Given the description of an element on the screen output the (x, y) to click on. 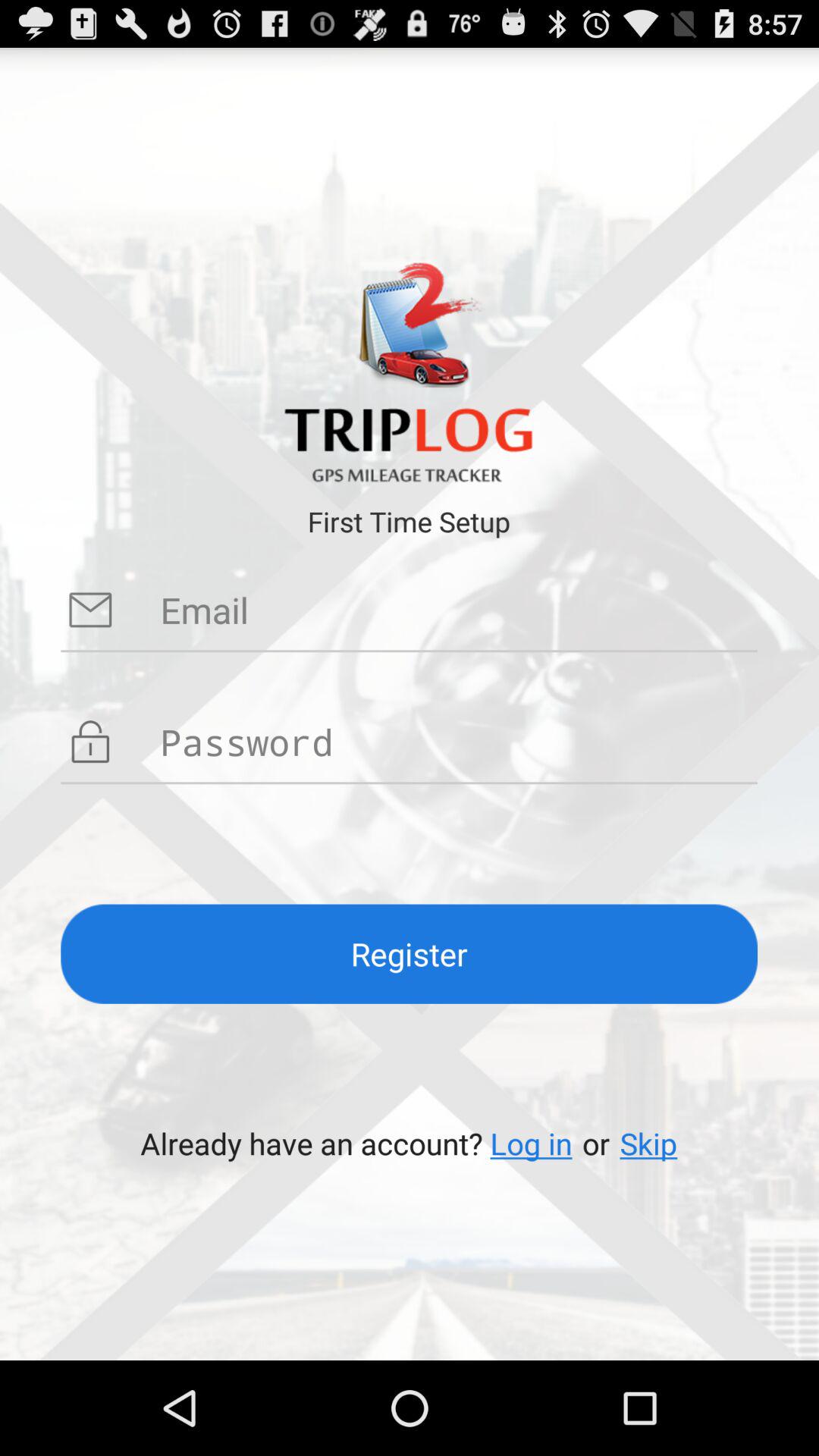
launch log in (531, 1143)
